Given the description of an element on the screen output the (x, y) to click on. 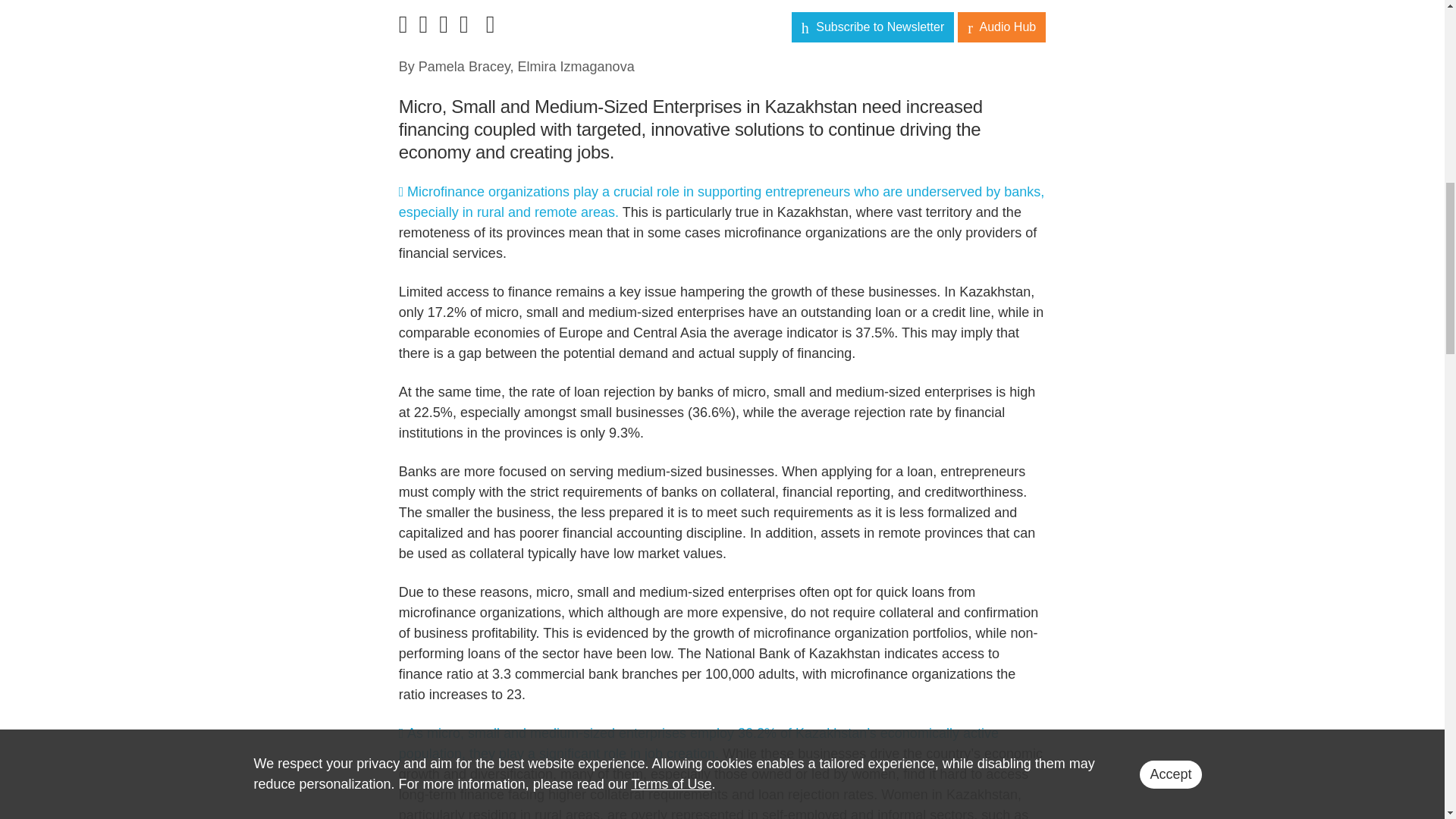
Print-friendly version (467, 28)
Tweet this (721, 202)
Tweet this (698, 743)
